Given the description of an element on the screen output the (x, y) to click on. 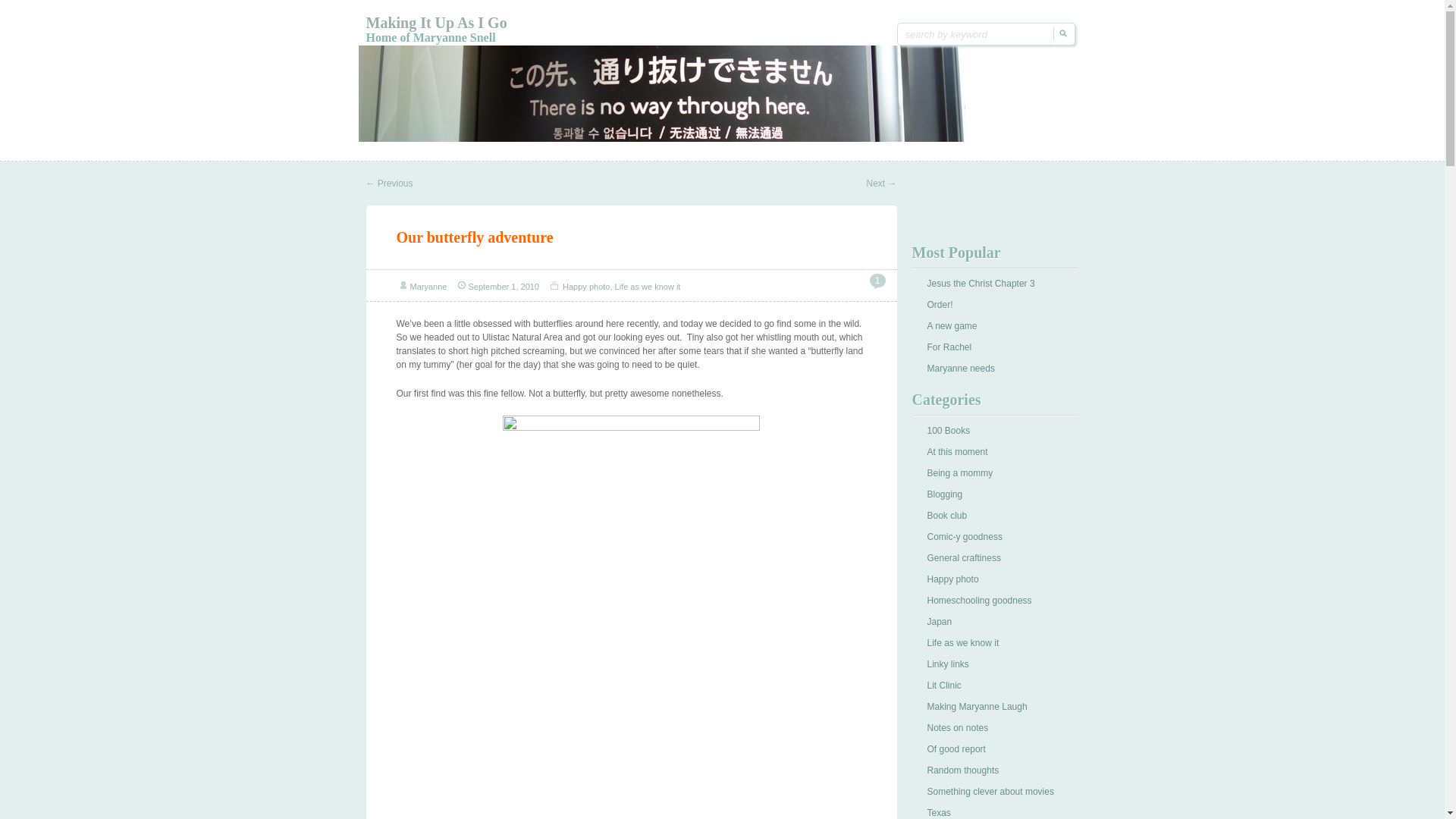
1 (877, 280)
Happy photo (586, 286)
Being a mommy (959, 472)
Lit Clinic (943, 685)
A new game (951, 326)
Jesus the Christ Chapter 3 (979, 283)
Making It Up As I Go (435, 22)
12:14 pm (502, 286)
Japan (939, 621)
View all posts by Maryanne (427, 286)
